Given the description of an element on the screen output the (x, y) to click on. 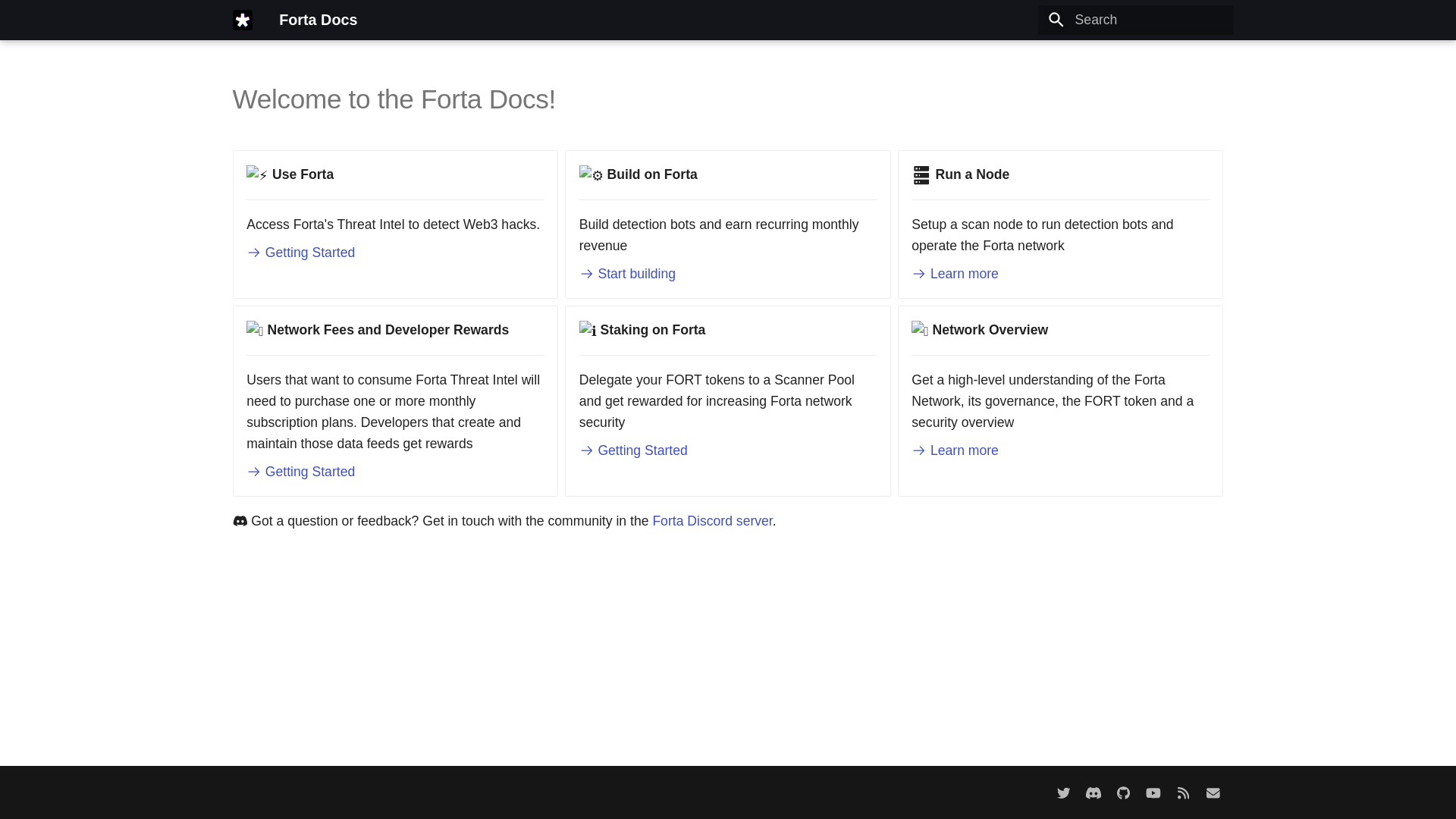
Getting Started (300, 252)
:zap: (256, 175)
Forta Discord server (711, 520)
:gear: (591, 175)
Start building (627, 273)
Forta Blog (1183, 791)
Forta on Github (1123, 791)
Learn more (954, 450)
Learn more (954, 273)
Forta Docs (242, 19)
Forta Docs (317, 19)
Getting Started (633, 450)
Forta on Discord (1093, 791)
Forta on Twitter (1063, 791)
Getting Started (300, 471)
